Given the description of an element on the screen output the (x, y) to click on. 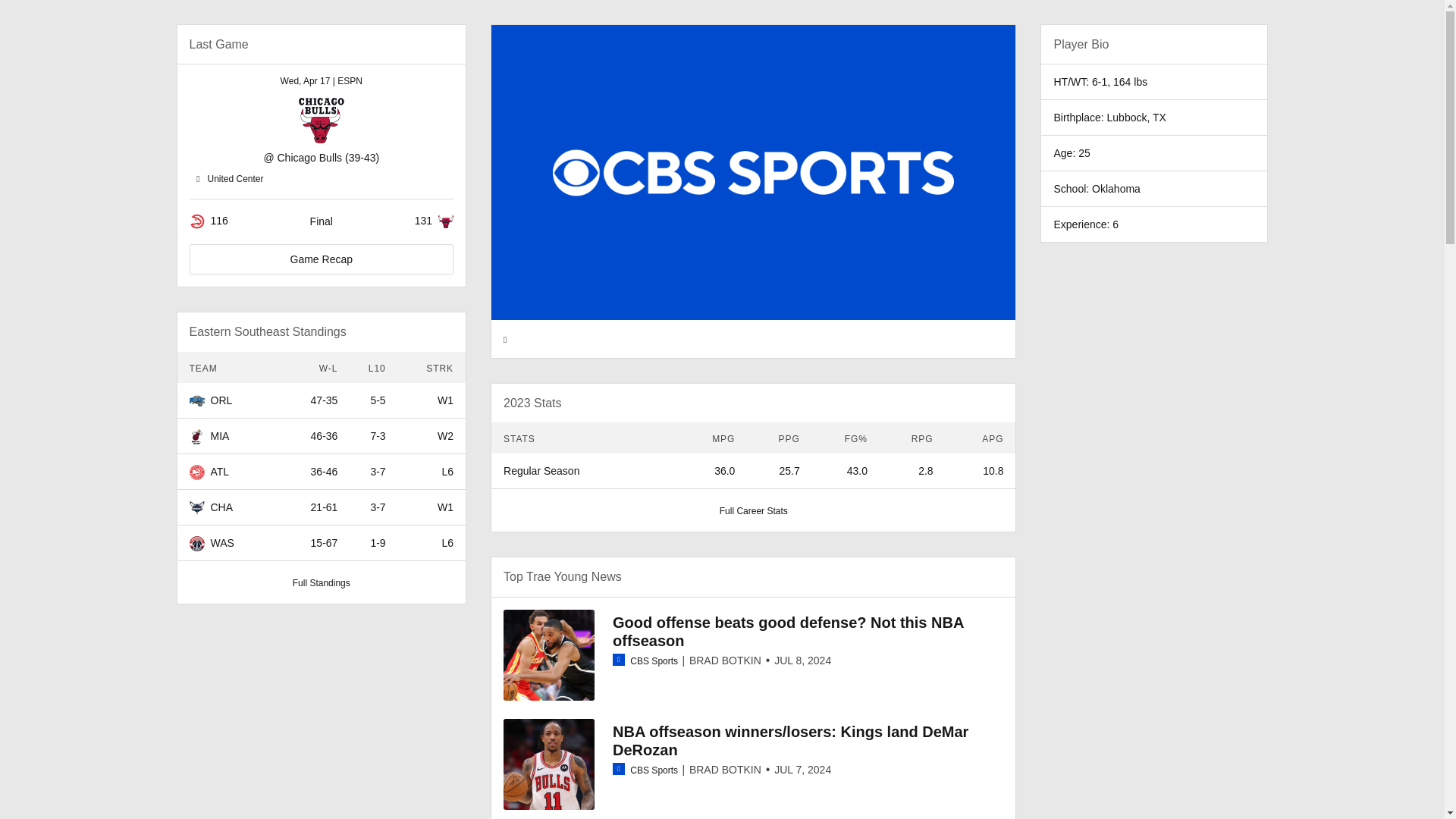
Full Standings (321, 583)
CHA (221, 507)
ATL (220, 471)
Chicago Bulls (310, 157)
WAS (222, 542)
Game Recap (321, 259)
ORL (221, 399)
Full Career Stats (753, 511)
MIA (220, 435)
Good offense beats good defense? Not this NBA offseason (787, 631)
